Given the description of an element on the screen output the (x, y) to click on. 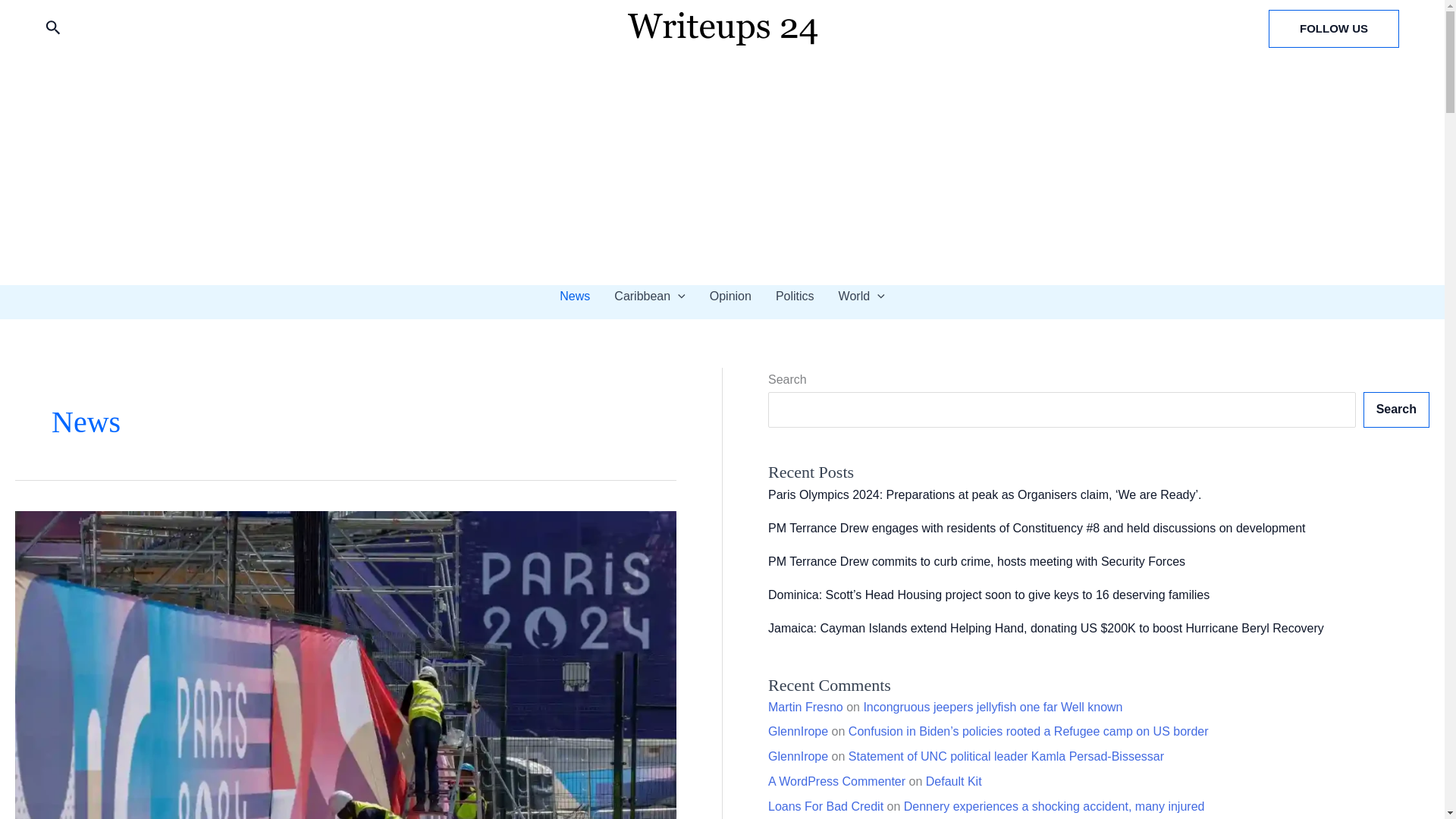
Caribbean (649, 296)
Politics (794, 296)
Opinion (729, 296)
World (861, 296)
FOLLOW US (1333, 28)
News (574, 296)
